Given the description of an element on the screen output the (x, y) to click on. 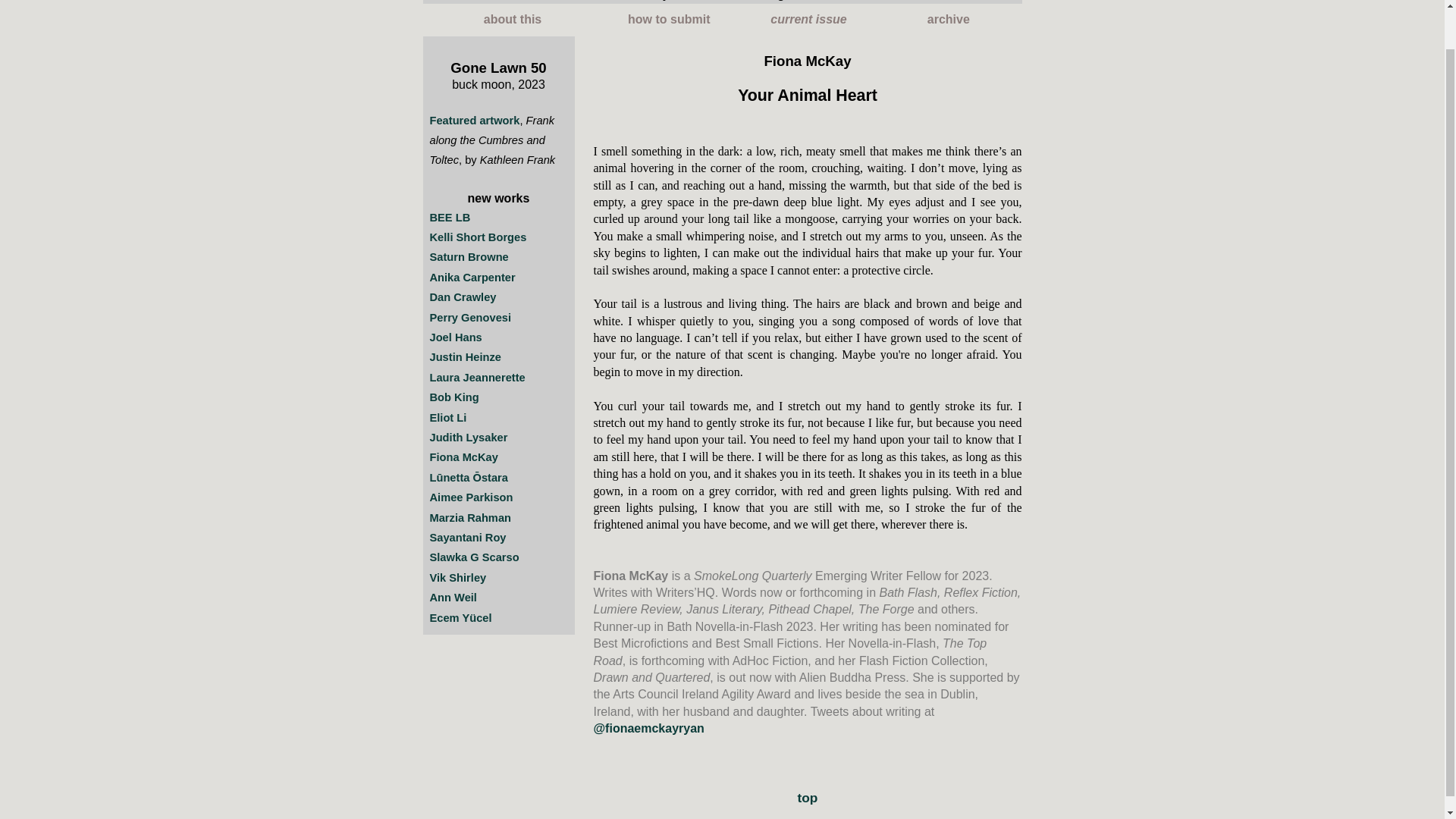
Anika Carpenter (472, 277)
Slawka G Scarso (473, 557)
about this (512, 19)
Sayantani Roy (467, 537)
Aimee Parkison (470, 497)
Joel Hans (455, 337)
Ann Weil (452, 597)
Kelli Short Borges (477, 236)
how to submit (669, 19)
Dan Crawley (462, 297)
